Given the description of an element on the screen output the (x, y) to click on. 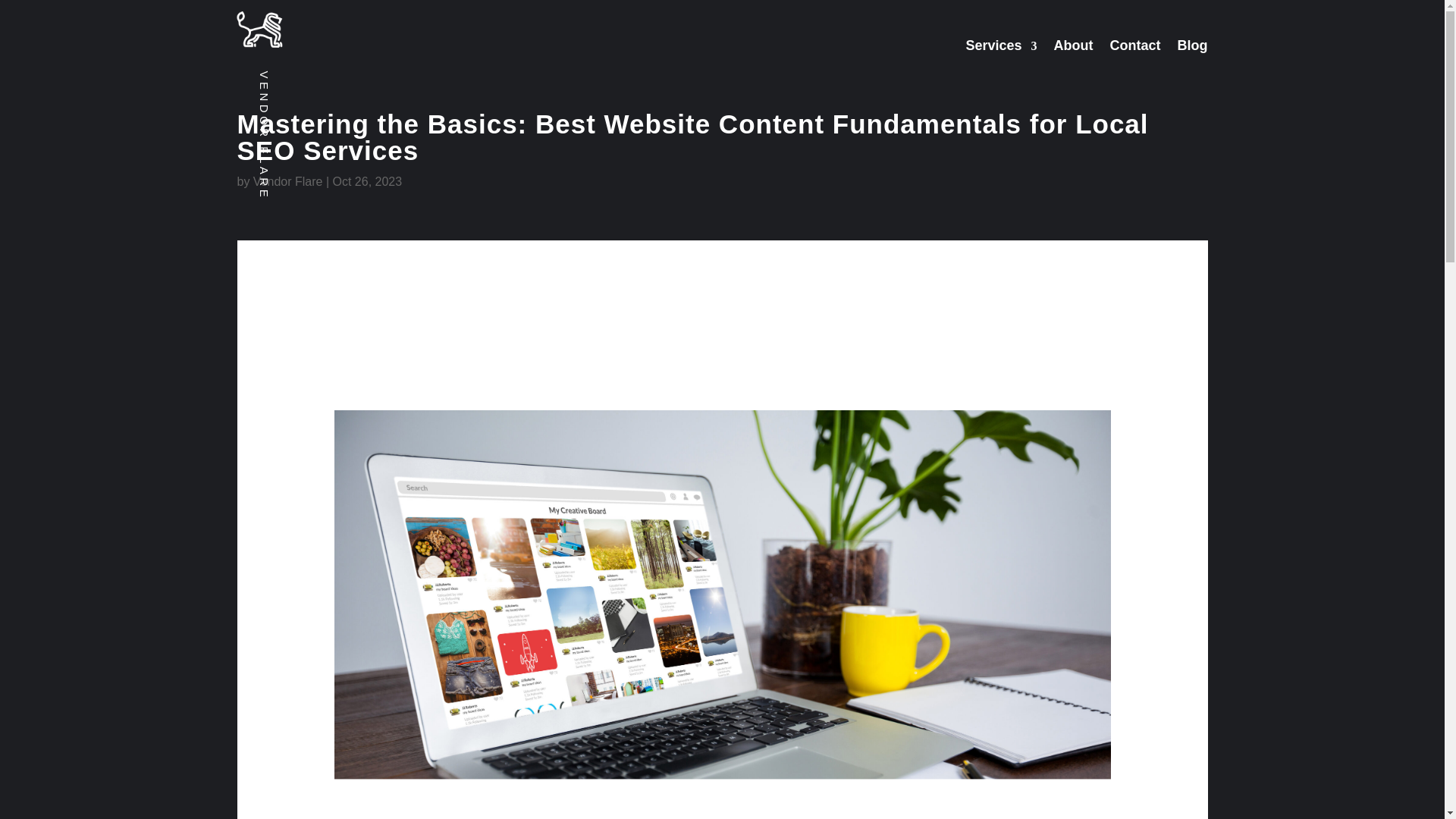
Contact (1134, 48)
Blog (1191, 48)
About (1073, 48)
Vendor Flare (288, 181)
Services (1000, 48)
Posts by Vendor Flare (288, 181)
